Given the description of an element on the screen output the (x, y) to click on. 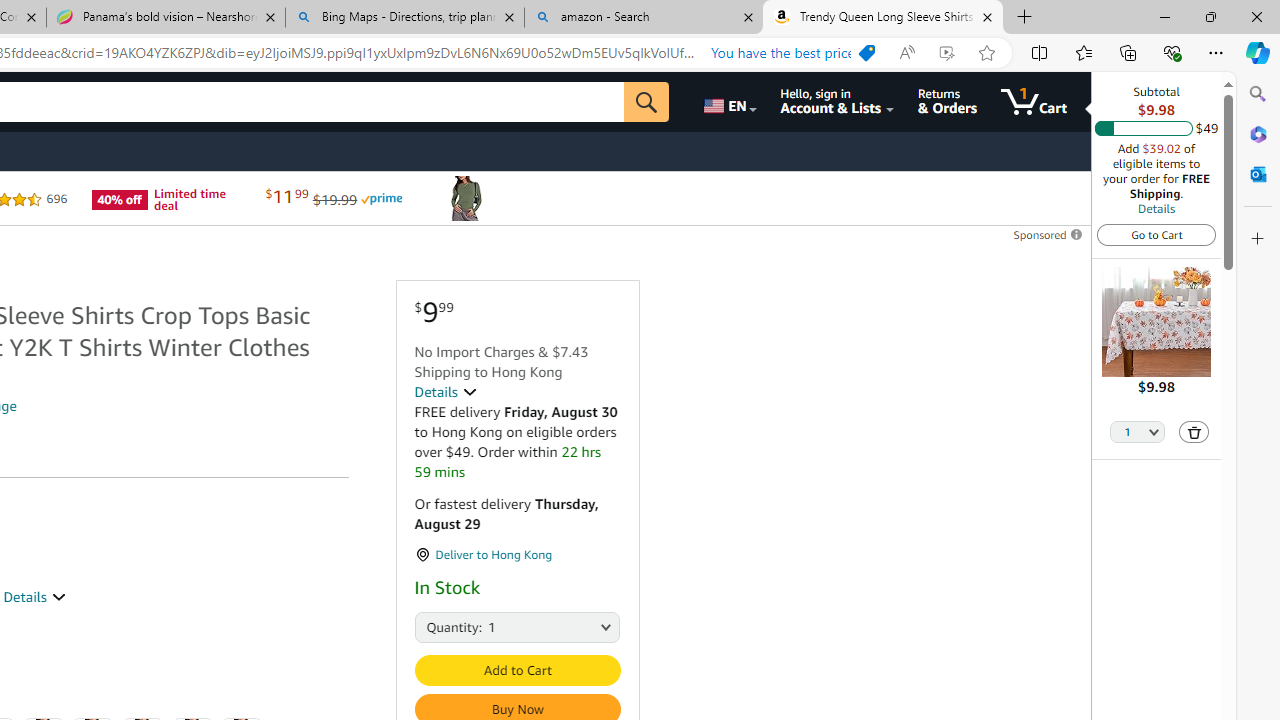
Enhance video (946, 53)
Add to Cart (516, 669)
Returns & Orders (946, 101)
Quantity Selector (1137, 433)
Go to Cart (1156, 234)
Details  (445, 391)
